Given the description of an element on the screen output the (x, y) to click on. 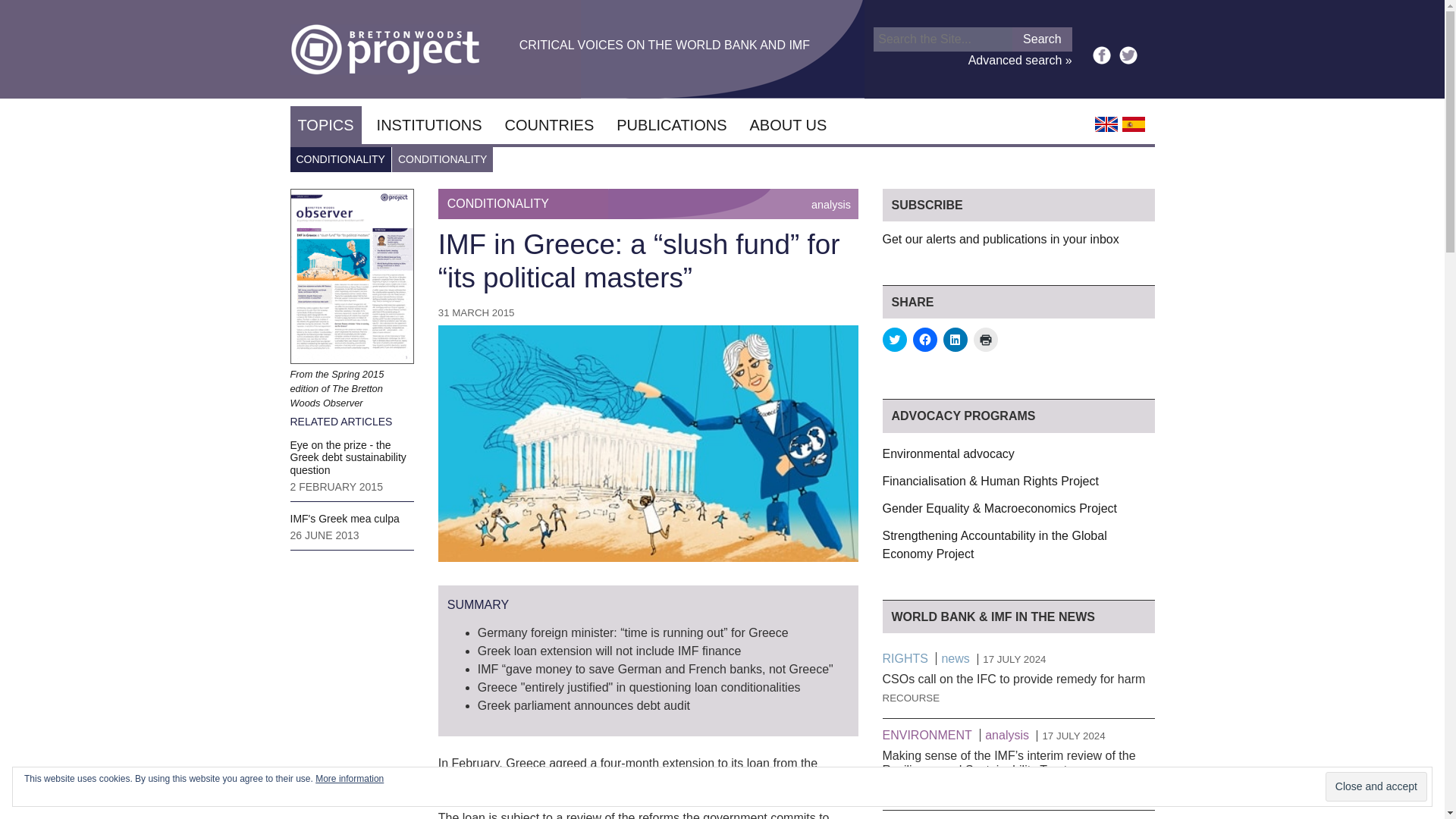
Facebook (1101, 54)
Click to share on Twitter (894, 339)
Twitter (1128, 54)
PUBLICATIONS (670, 125)
COUNTRIES (548, 125)
Click to share on LinkedIn (955, 339)
Search (1041, 39)
TOPICS (325, 125)
Search (1041, 39)
Click to print (985, 339)
INSTITUTIONS (429, 125)
Close and accept (1375, 786)
Click to share on Facebook (924, 339)
